Given the description of an element on the screen output the (x, y) to click on. 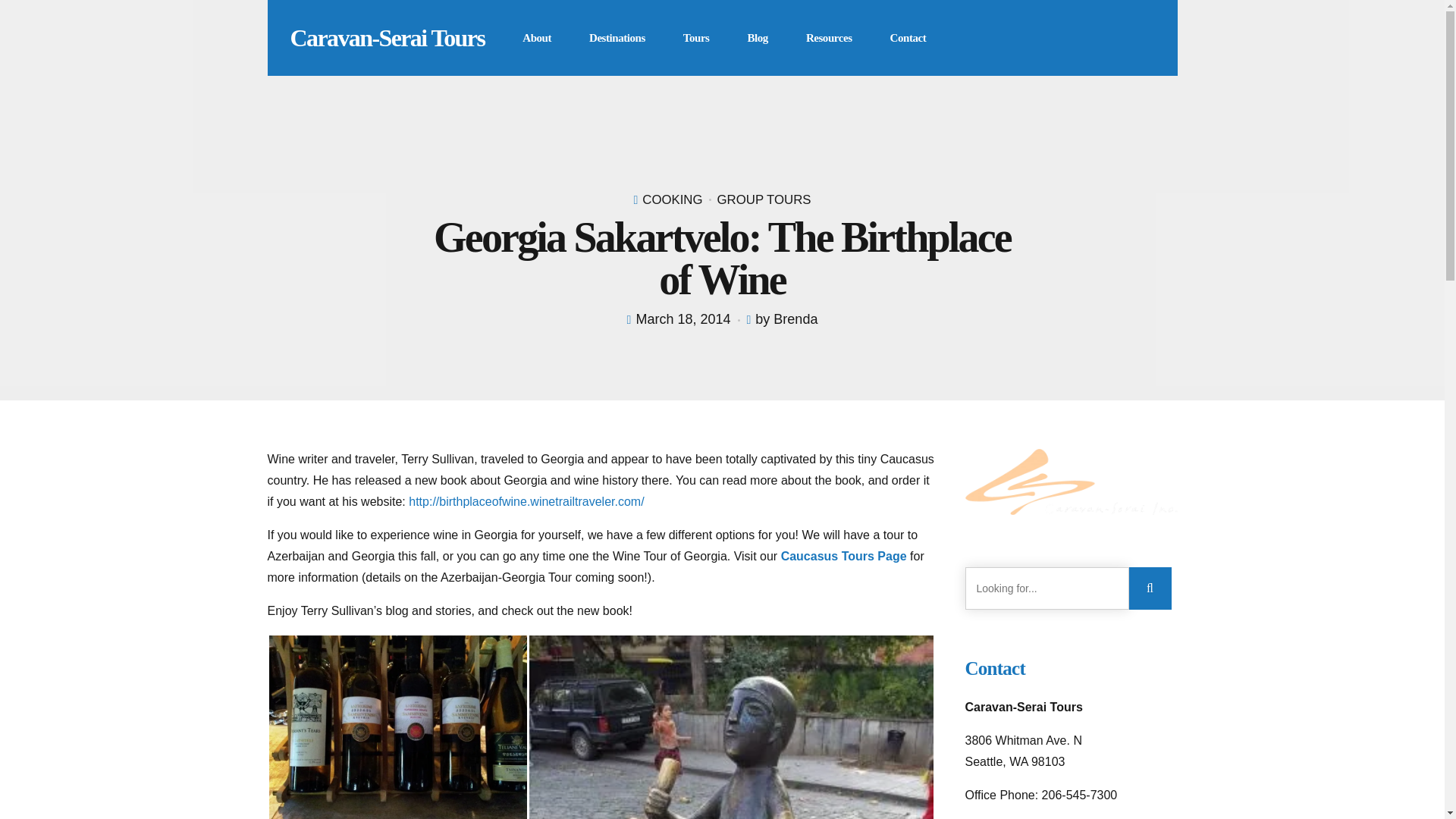
Caravan-Serai Tours (386, 37)
GeorgianWine1 (396, 727)
